Given the description of an element on the screen output the (x, y) to click on. 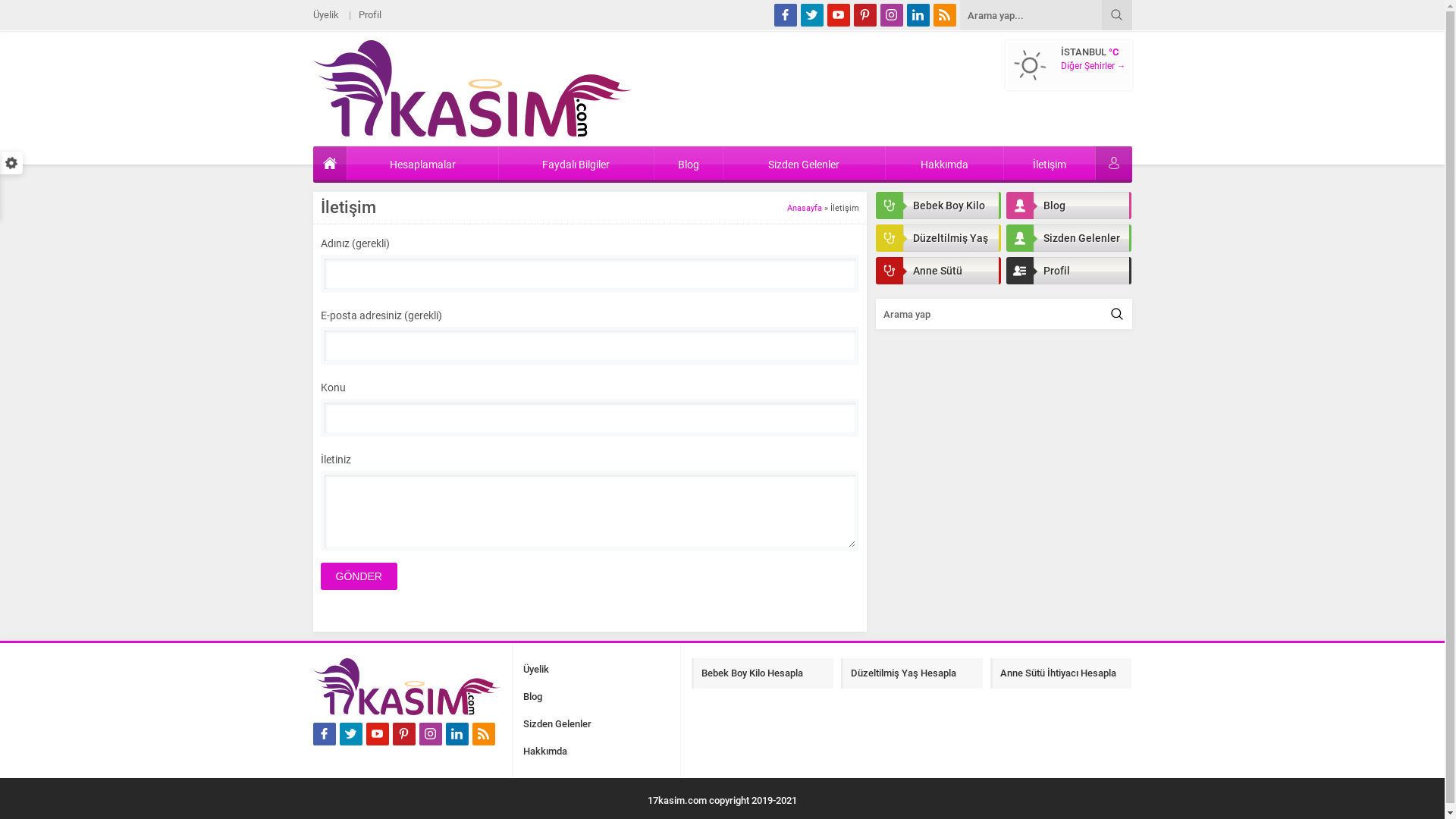
Profil Element type: text (368, 14)
Sizden Gelenler Element type: text (557, 723)
Sizden Gelenler Element type: text (803, 162)
Bebek Boy Kilo Hesapla Element type: text (936, 205)
Anasayfa Element type: text (328, 162)
Profil Element type: text (1067, 270)
Blog Element type: text (532, 696)
Hesaplamalar Element type: text (422, 162)
Bebek Boy Kilo Hesapla Element type: text (762, 673)
Blog Element type: text (1067, 205)
Anasayfa Element type: text (804, 208)
Sizden Gelenler Element type: text (1067, 237)
Blog Element type: text (688, 162)
